Given the description of an element on the screen output the (x, y) to click on. 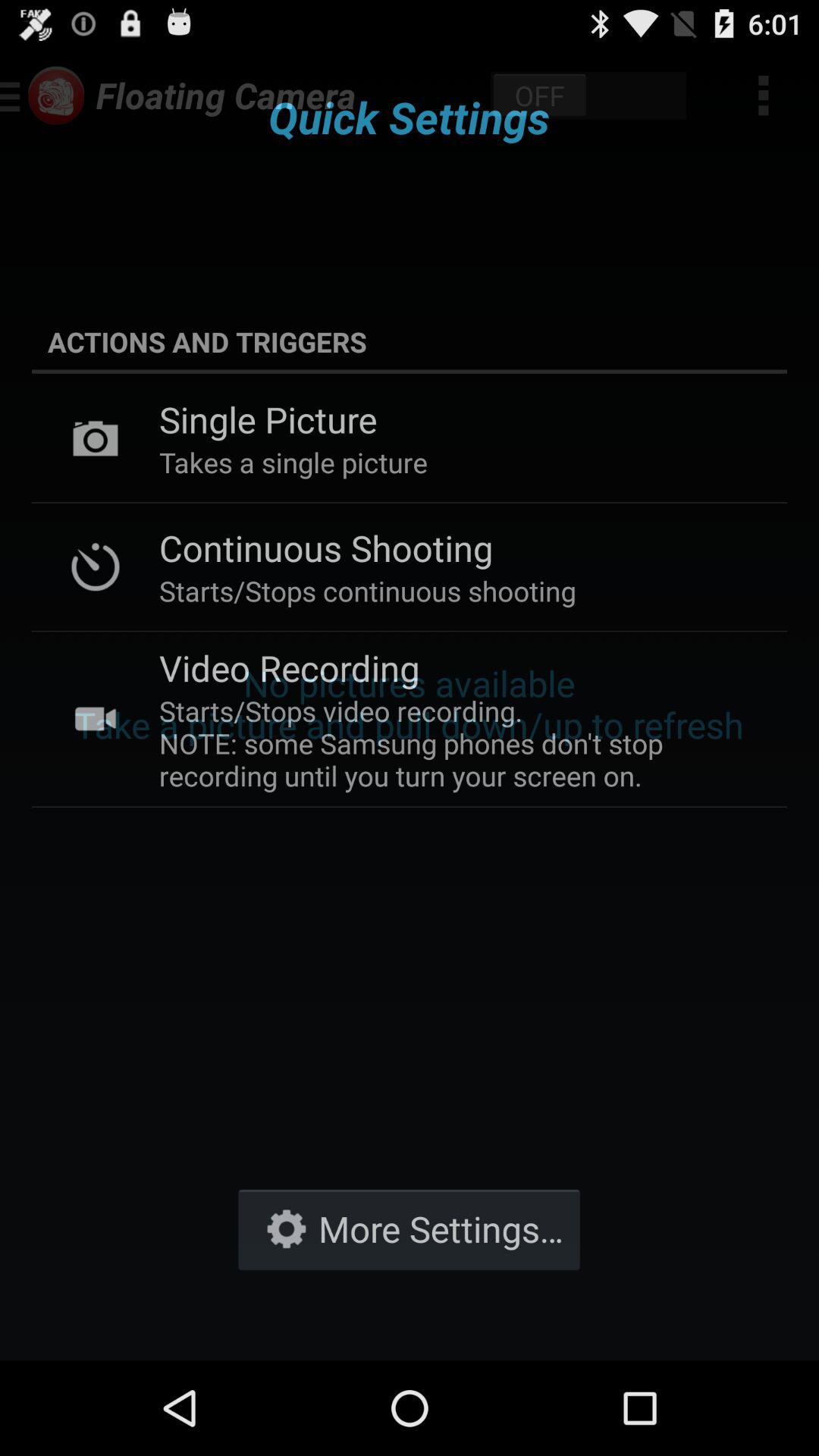
open the item at the bottom (408, 1228)
